Given the description of an element on the screen output the (x, y) to click on. 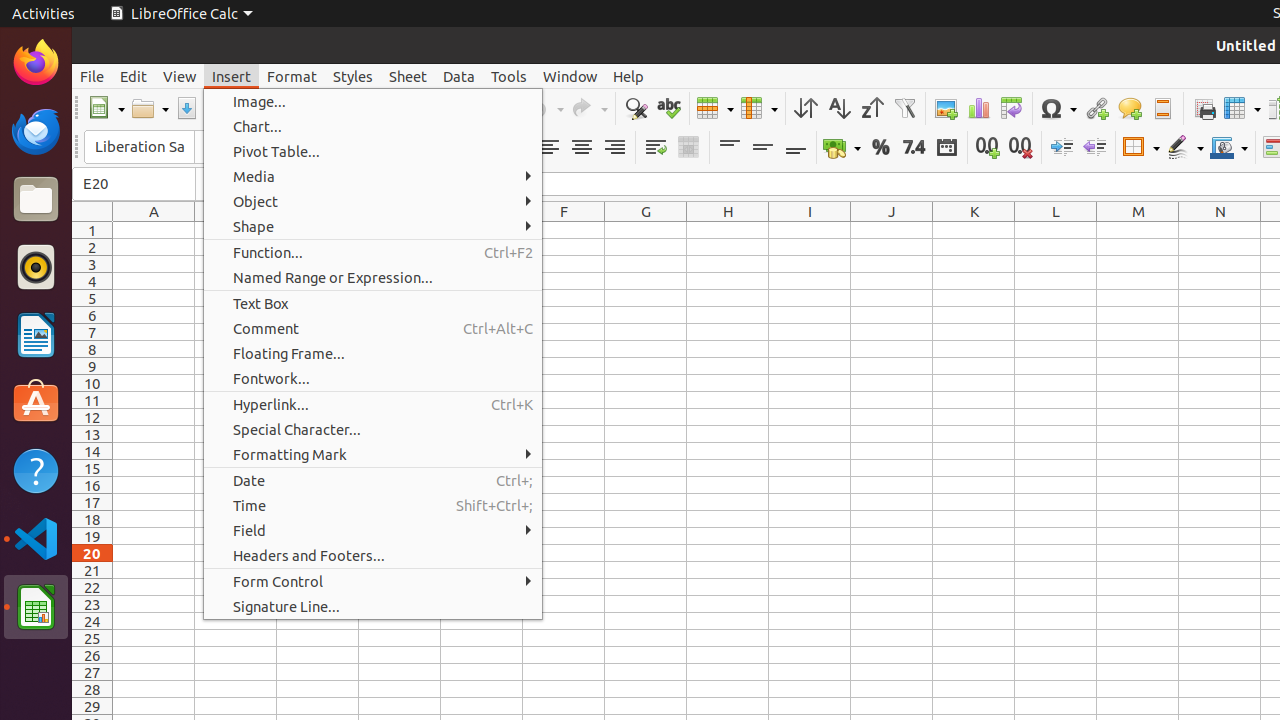
Special Character... Element type: menu-item (373, 429)
Insert Element type: menu (231, 76)
Formatting Mark Element type: menu (373, 454)
Add Decimal Place Element type: push-button (987, 147)
K1 Element type: table-cell (974, 230)
